Given the description of an element on the screen output the (x, y) to click on. 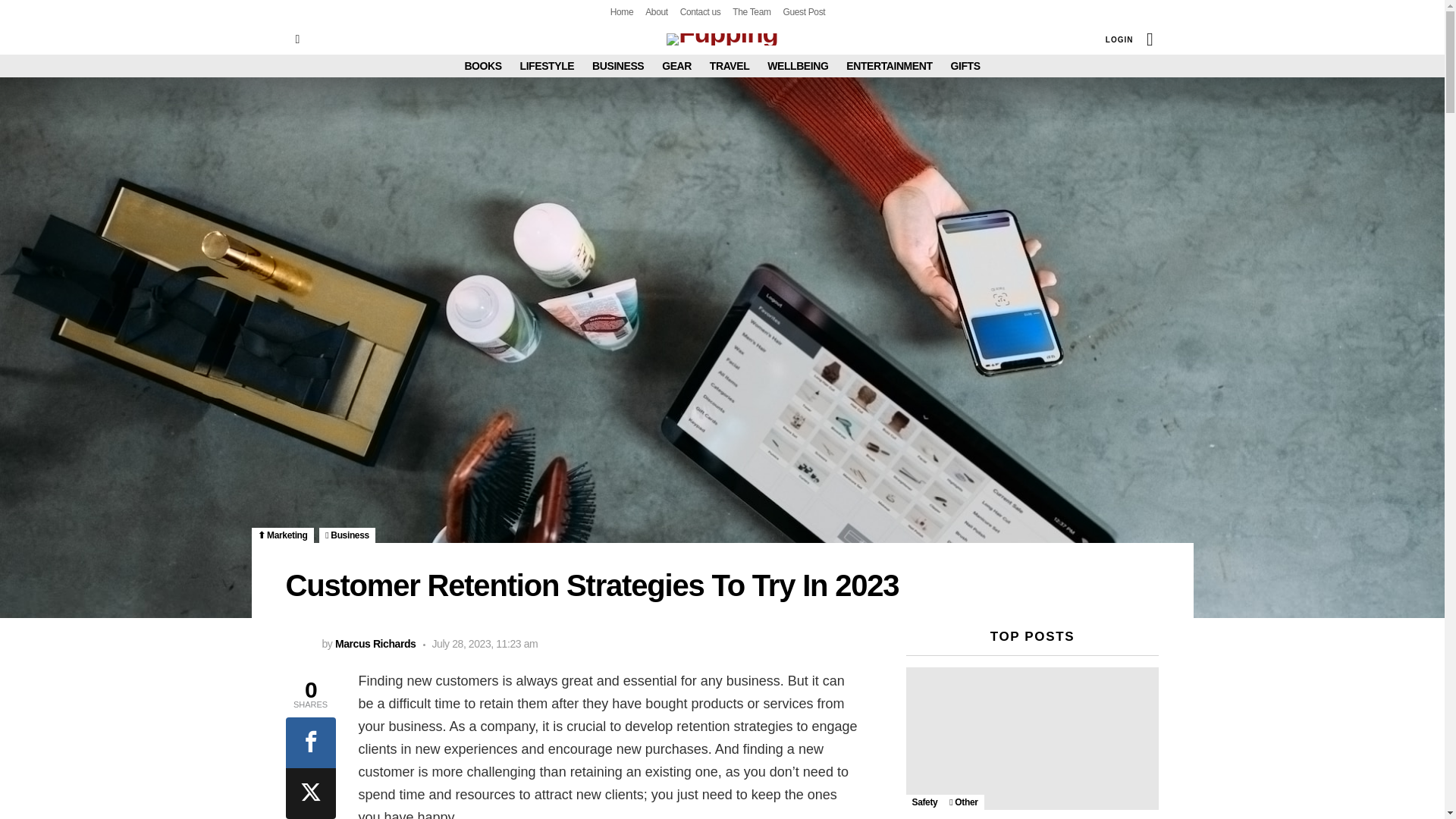
BUSINESS (617, 65)
Contact us (699, 12)
ENTERTAINMENT (888, 65)
GEAR (675, 65)
WELLBEING (797, 65)
Home (621, 12)
TRAVEL (729, 65)
Posts by Marcus Richards (375, 644)
LOGIN (1119, 38)
Guest Post (804, 12)
